Given the description of an element on the screen output the (x, y) to click on. 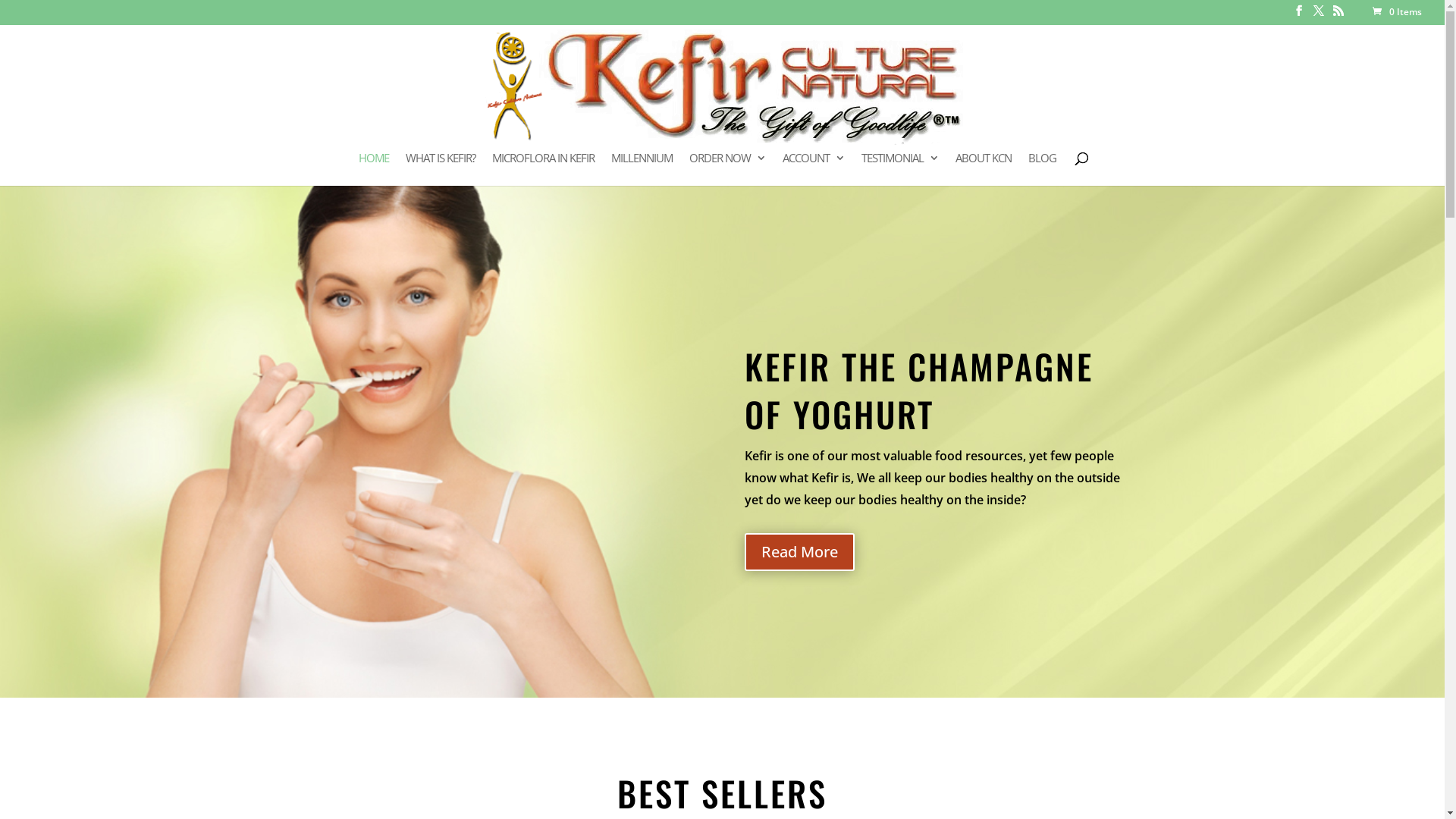
WHAT IS KEFIR? Element type: text (439, 168)
BLOG Element type: text (1042, 168)
HOME Element type: text (372, 168)
ACCOUNT Element type: text (813, 168)
TESTIMONIAL Element type: text (899, 168)
Read More Element type: text (799, 552)
ORDER NOW Element type: text (726, 168)
0 Items Element type: text (1395, 11)
MICROFLORA IN KEFIR Element type: text (542, 168)
MILLENNIUM Element type: text (641, 168)
ABOUT KCN Element type: text (983, 168)
